Given the description of an element on the screen output the (x, y) to click on. 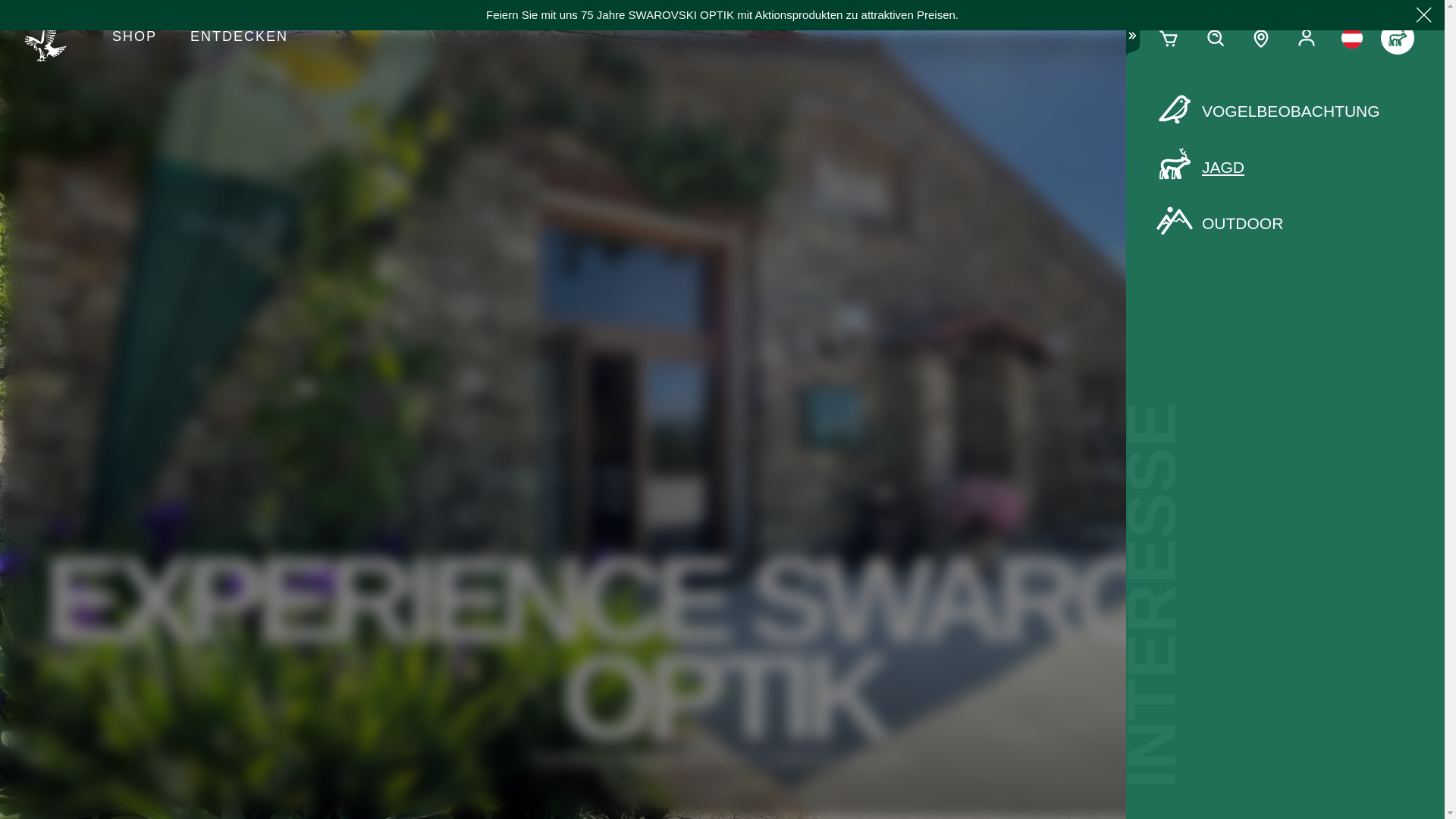
ENTDECKEN (238, 37)
LAND (1351, 37)
OUTDOOR (1284, 223)
Shop (134, 37)
JAGD (1284, 167)
Swarovski Optik (51, 38)
KONTO (1306, 37)
VOGELBEOBACHTUNG (1284, 110)
WARENKORB (1169, 37)
SHOP (134, 37)
